Given the description of an element on the screen output the (x, y) to click on. 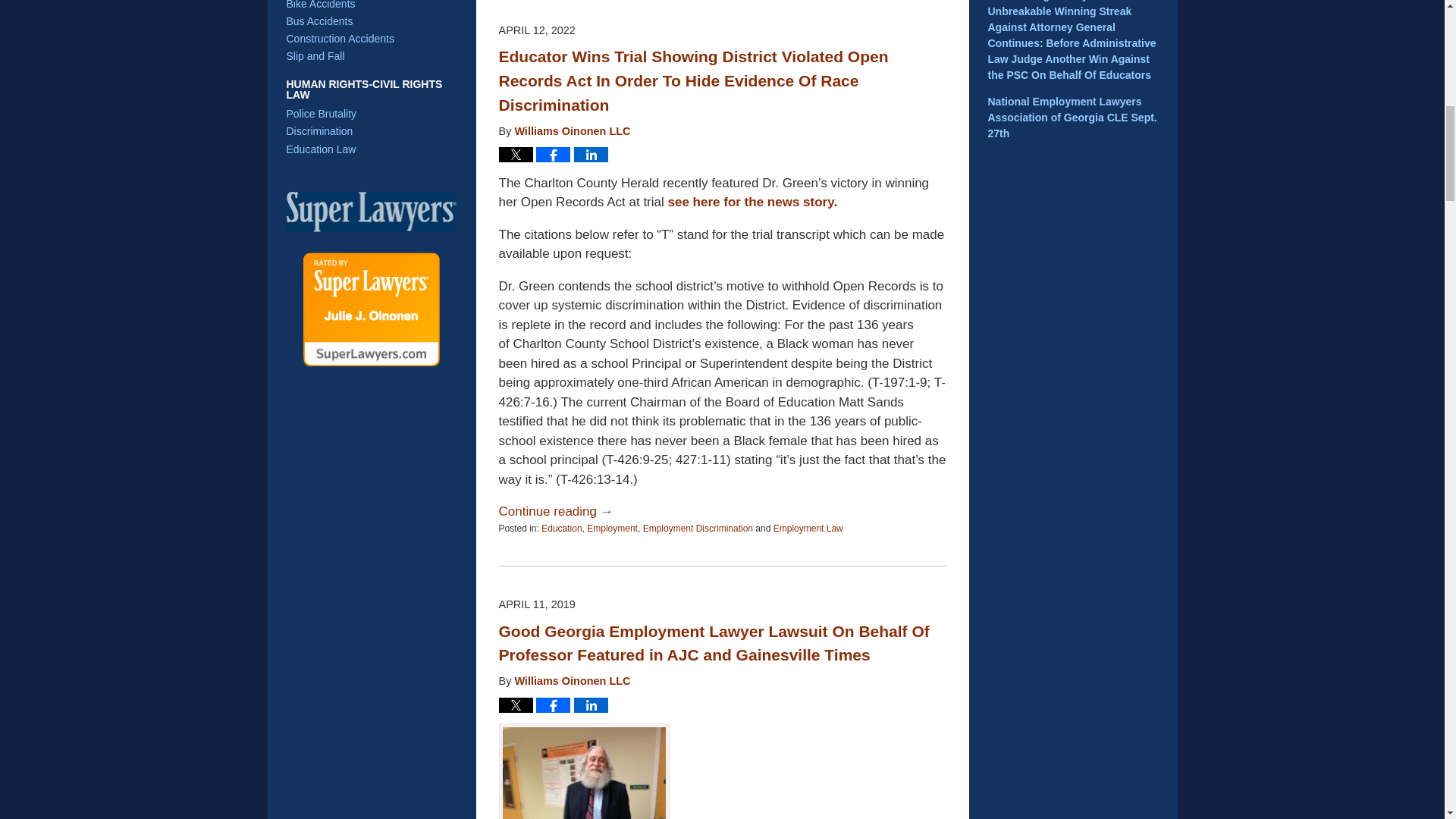
View all posts in Employment Discrimination (697, 528)
View all posts in Employment (611, 528)
View all posts in Employment Law (808, 528)
see here for the news story.  (753, 201)
View all posts in Education (560, 528)
Williams Oinonen LLC (571, 131)
